Given the description of an element on the screen output the (x, y) to click on. 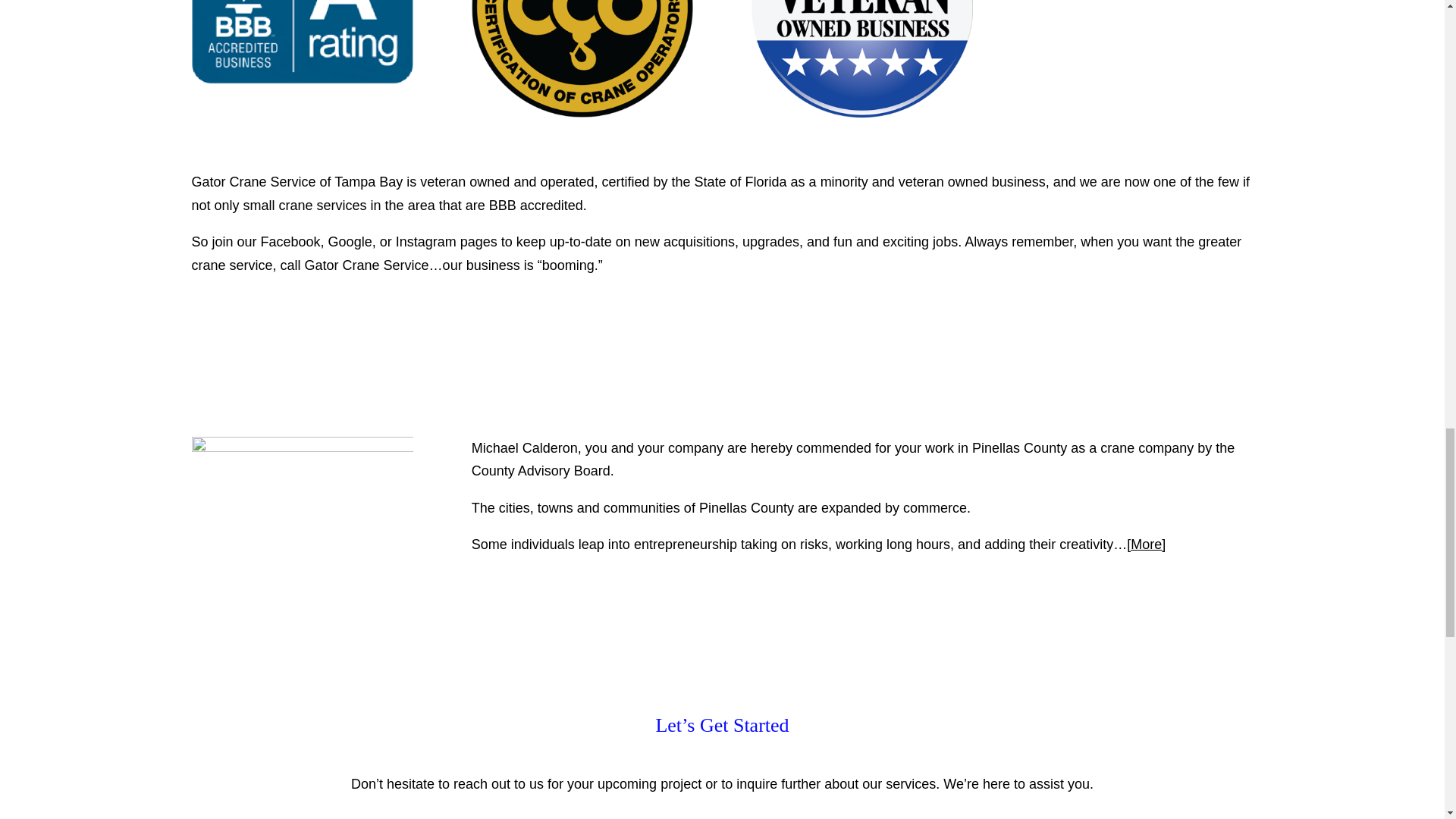
More (1146, 544)
